Given the description of an element on the screen output the (x, y) to click on. 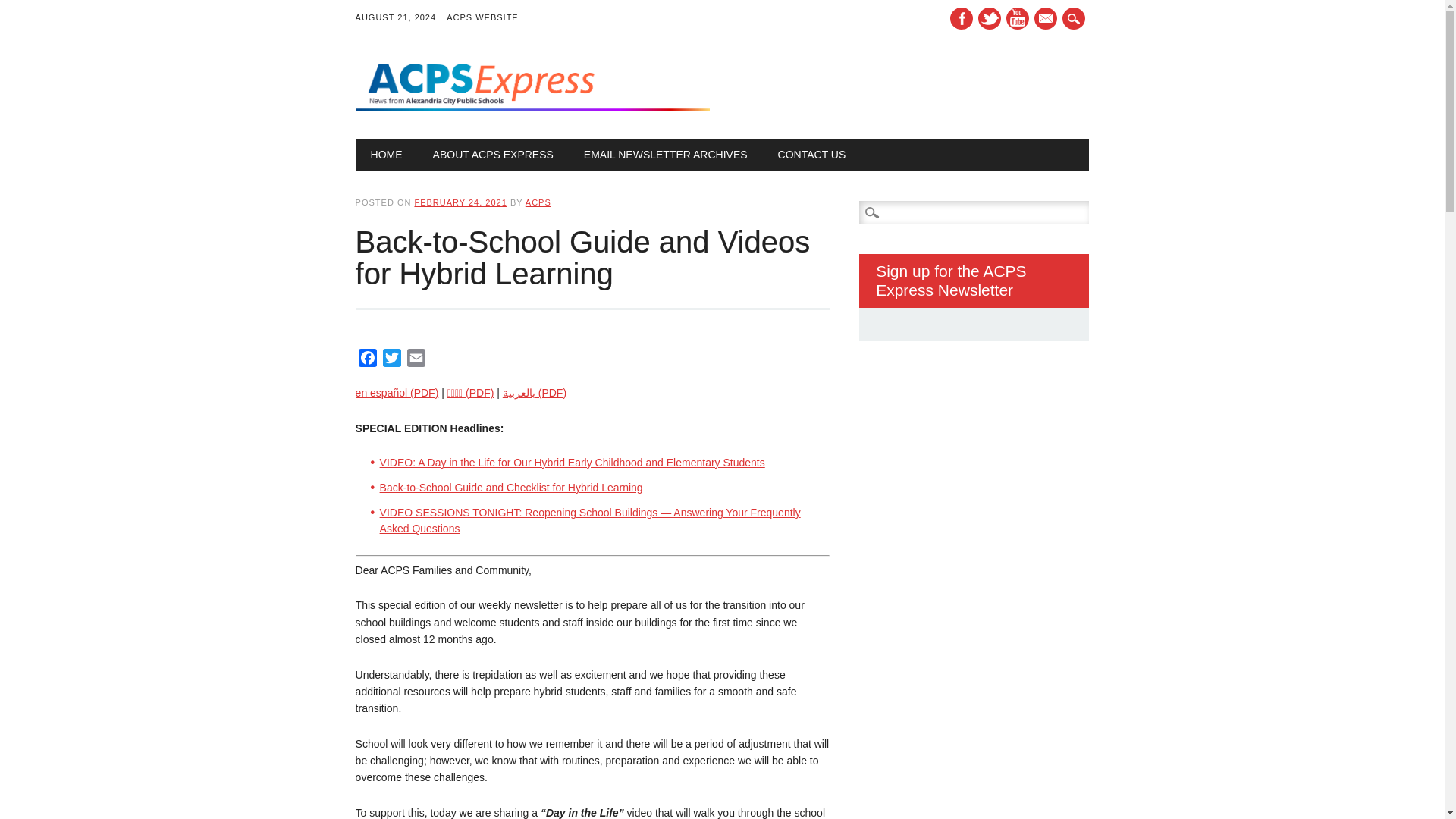
Twitter (392, 360)
Email (416, 360)
Facebook (961, 18)
Facebook (367, 360)
Facebook (367, 360)
Youtube (1017, 18)
EMAIL NEWSLETTER ARCHIVES (665, 154)
Twitter (392, 360)
ACPS WEBSITE (487, 17)
